Given the description of an element on the screen output the (x, y) to click on. 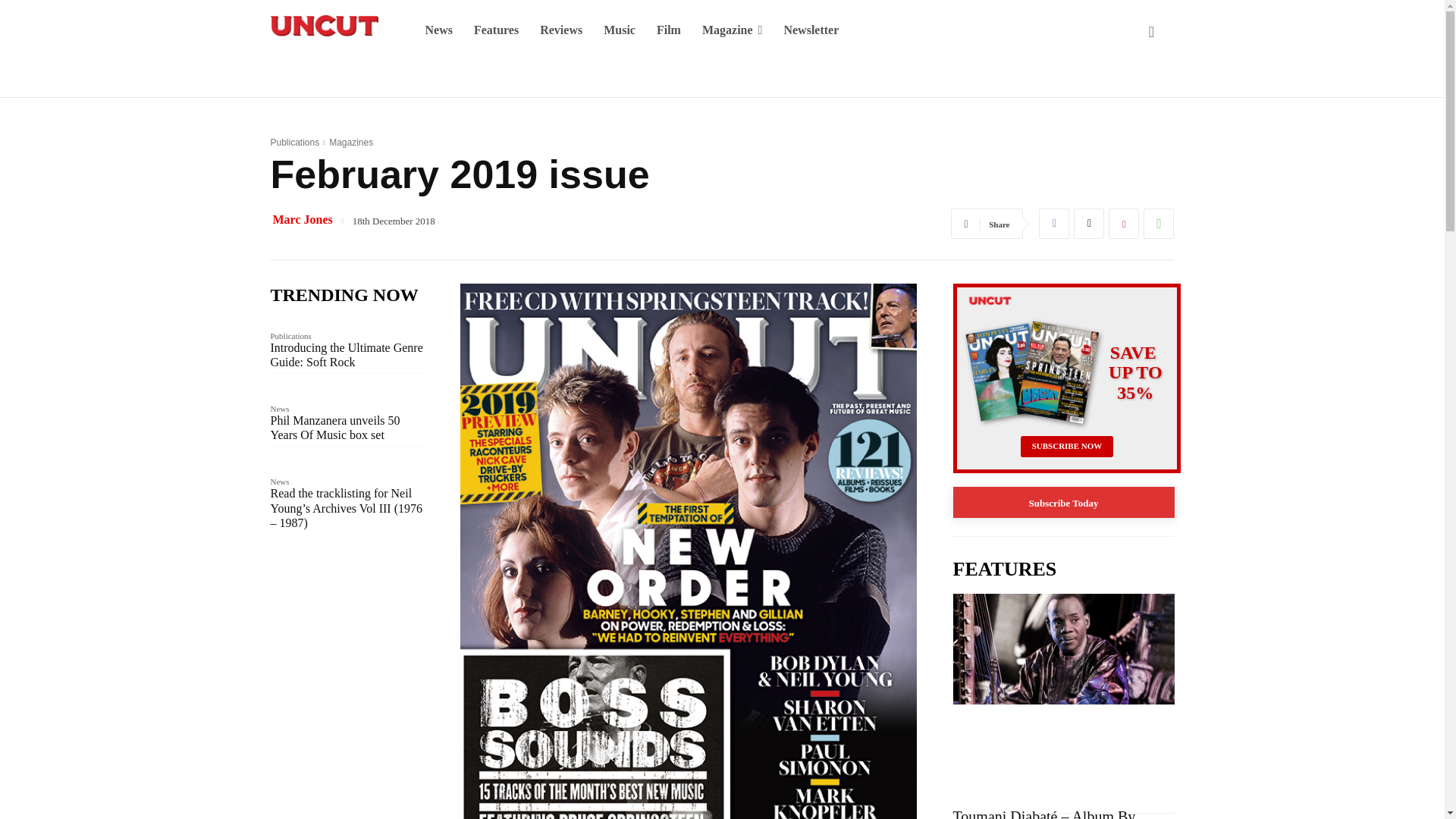
Newsletter (810, 30)
Uncut Logo (323, 25)
View all posts in Publications (293, 142)
Facebook (1053, 223)
View all posts in Magazines (350, 142)
Features (496, 30)
Magazine (732, 30)
Phil Manzanera unveils 50 Years Of Music box set (333, 427)
Twitter (1088, 223)
WhatsApp (1157, 223)
Reviews (560, 30)
Pinterest (1123, 223)
Introducing the Ultimate Genre Guide: Soft Rock (345, 354)
